Given the description of an element on the screen output the (x, y) to click on. 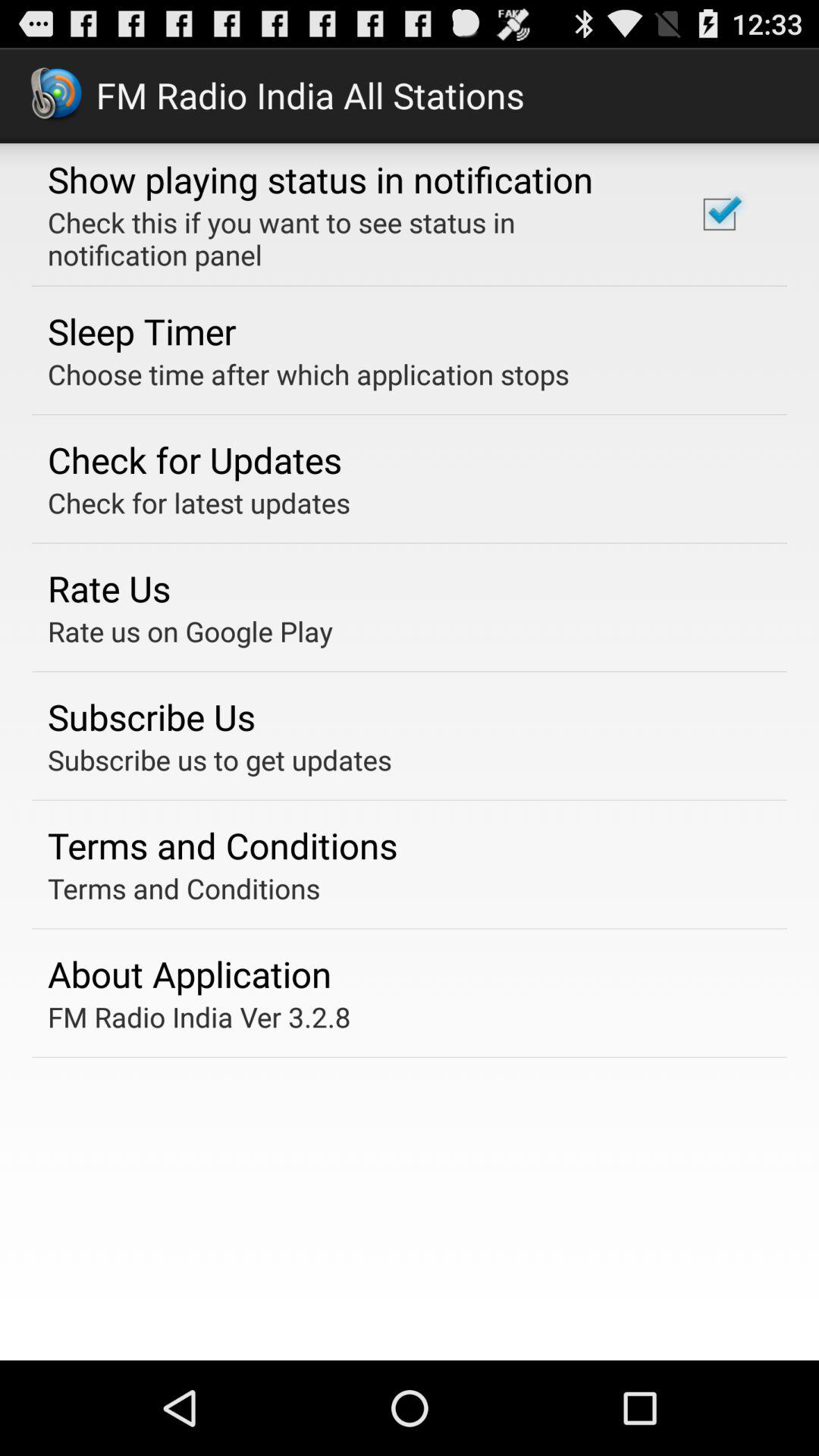
flip until the choose time after icon (308, 374)
